Given the description of an element on the screen output the (x, y) to click on. 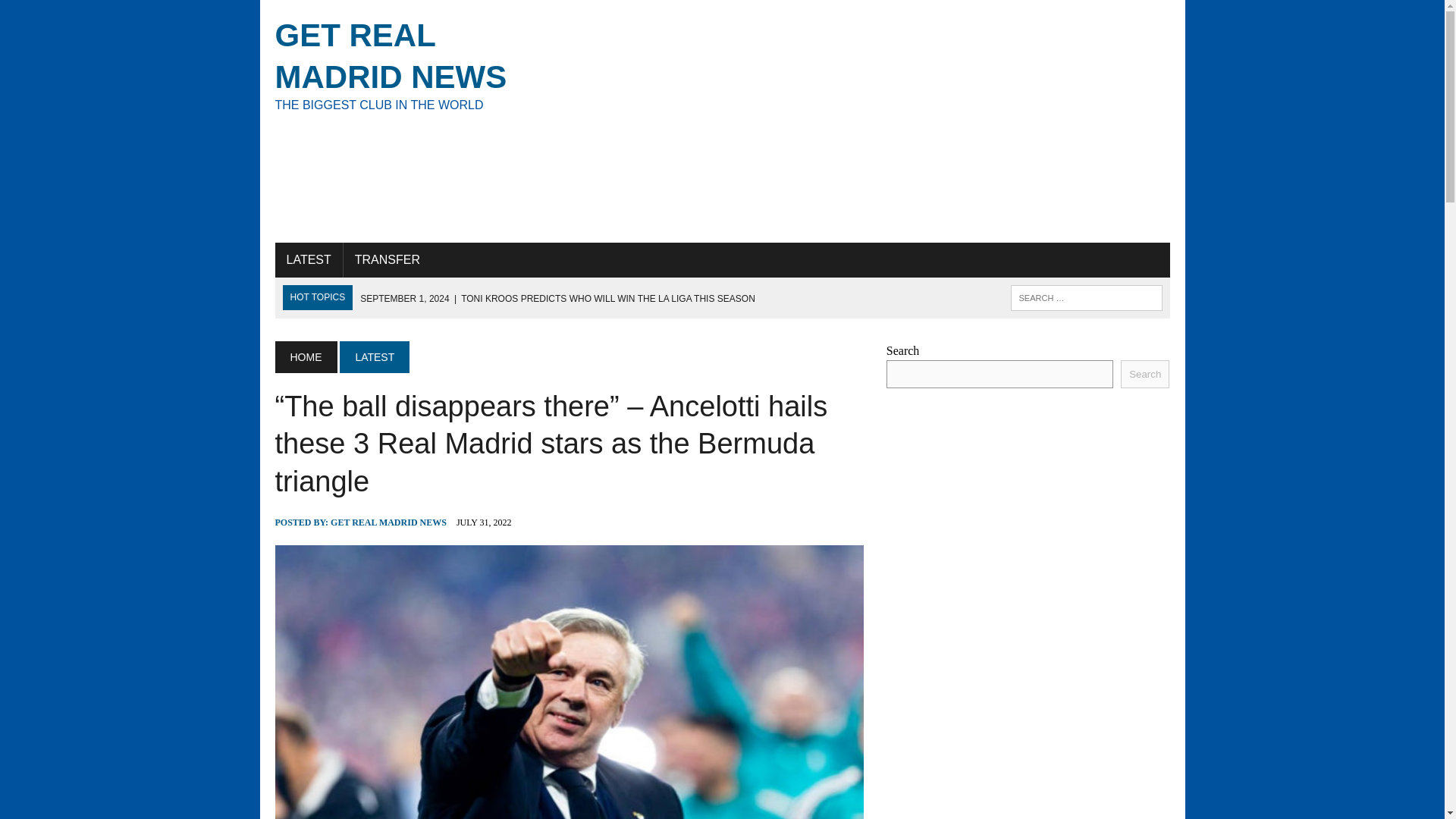
Advertisement (875, 121)
GET REAL MADRID NEWS (388, 521)
HOME (305, 357)
Toni Kroos predicts who will win the La Liga this season (416, 64)
TRANSFER (557, 298)
Get Real Madrid News (386, 259)
Search (416, 64)
LATEST (75, 14)
Search (308, 259)
